Given the description of an element on the screen output the (x, y) to click on. 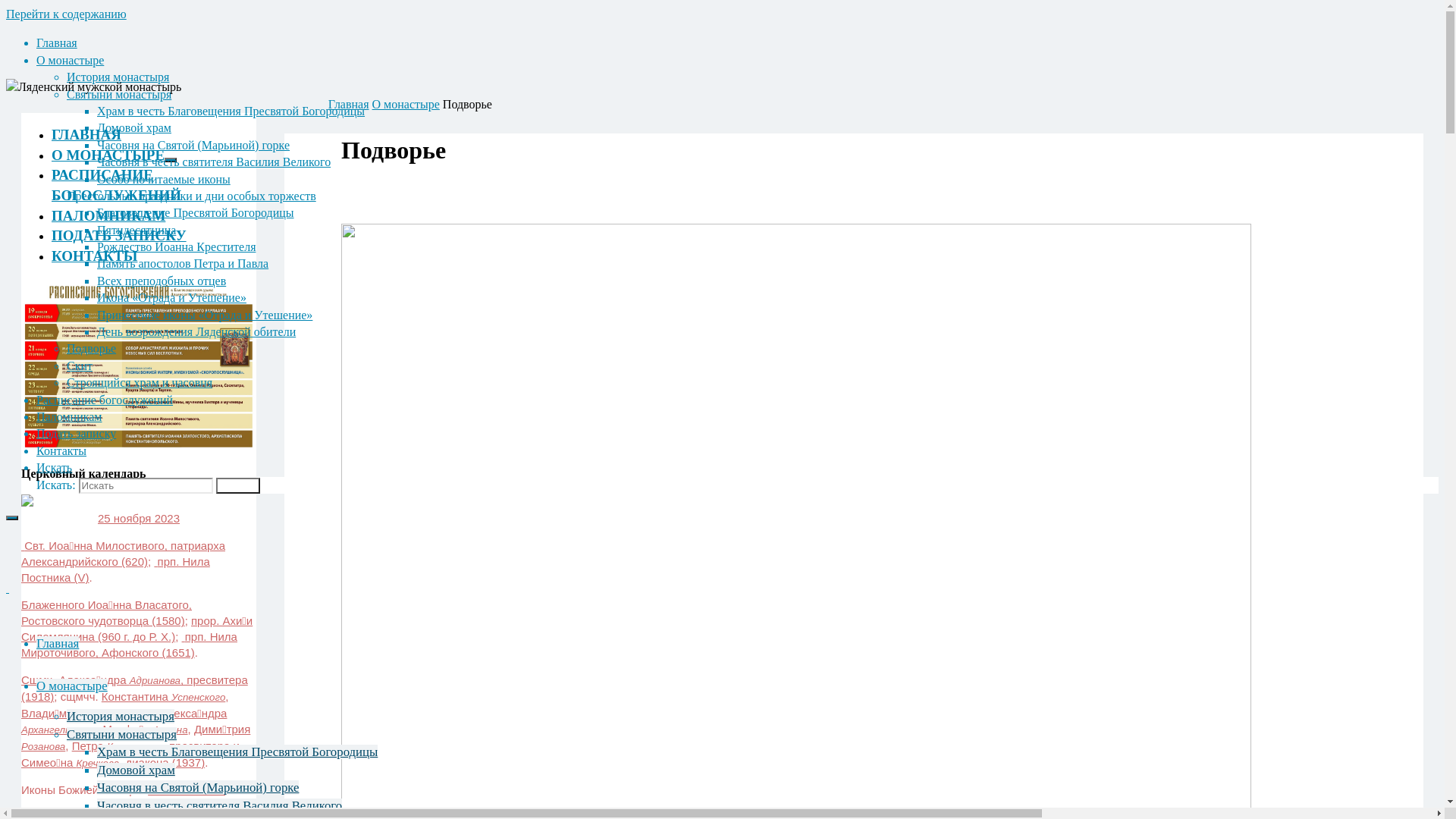
  Element type: text (7, 587)
